Given the description of an element on the screen output the (x, y) to click on. 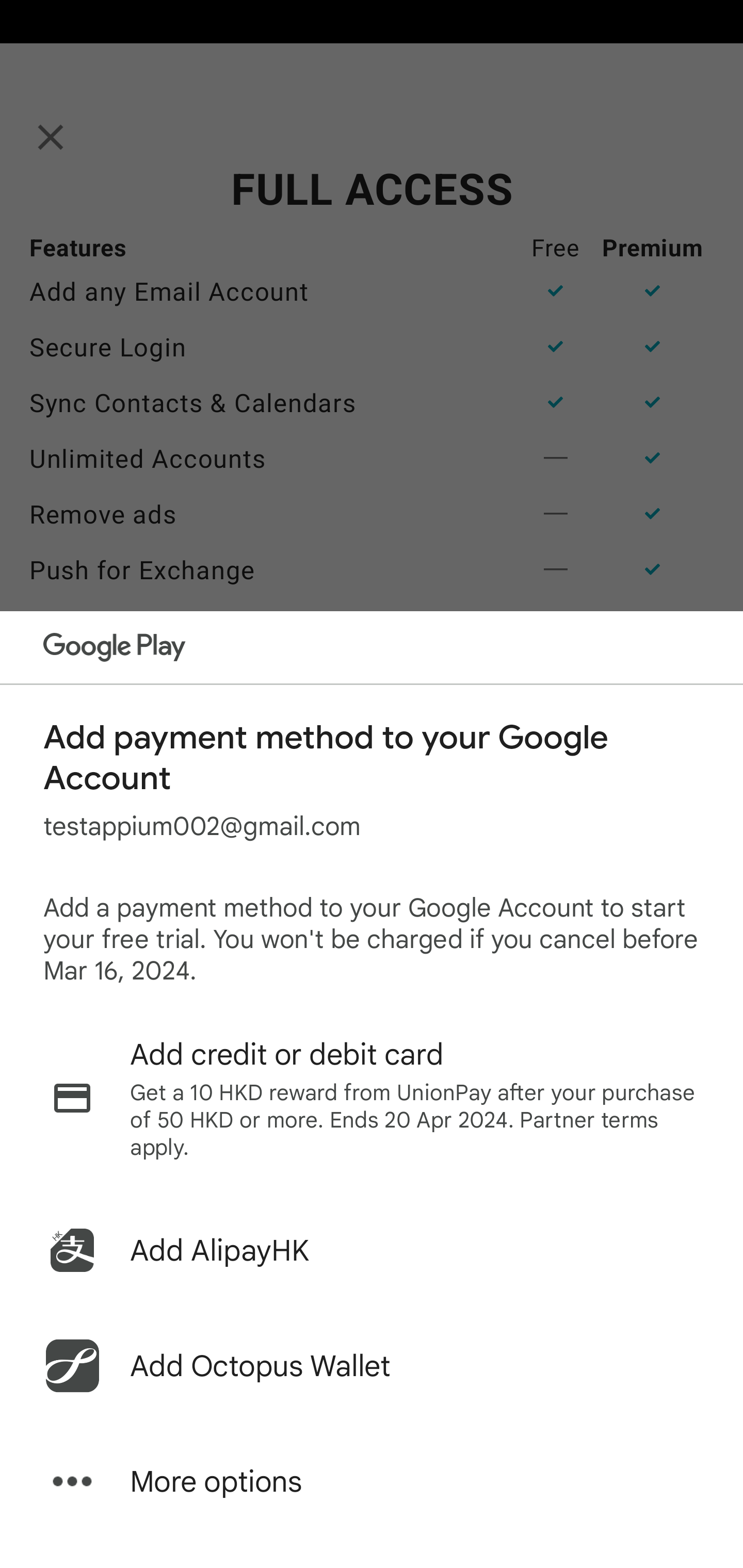
Add AlipayHK (371, 1250)
Add Octopus Wallet (371, 1365)
More options (371, 1481)
